Given the description of an element on the screen output the (x, y) to click on. 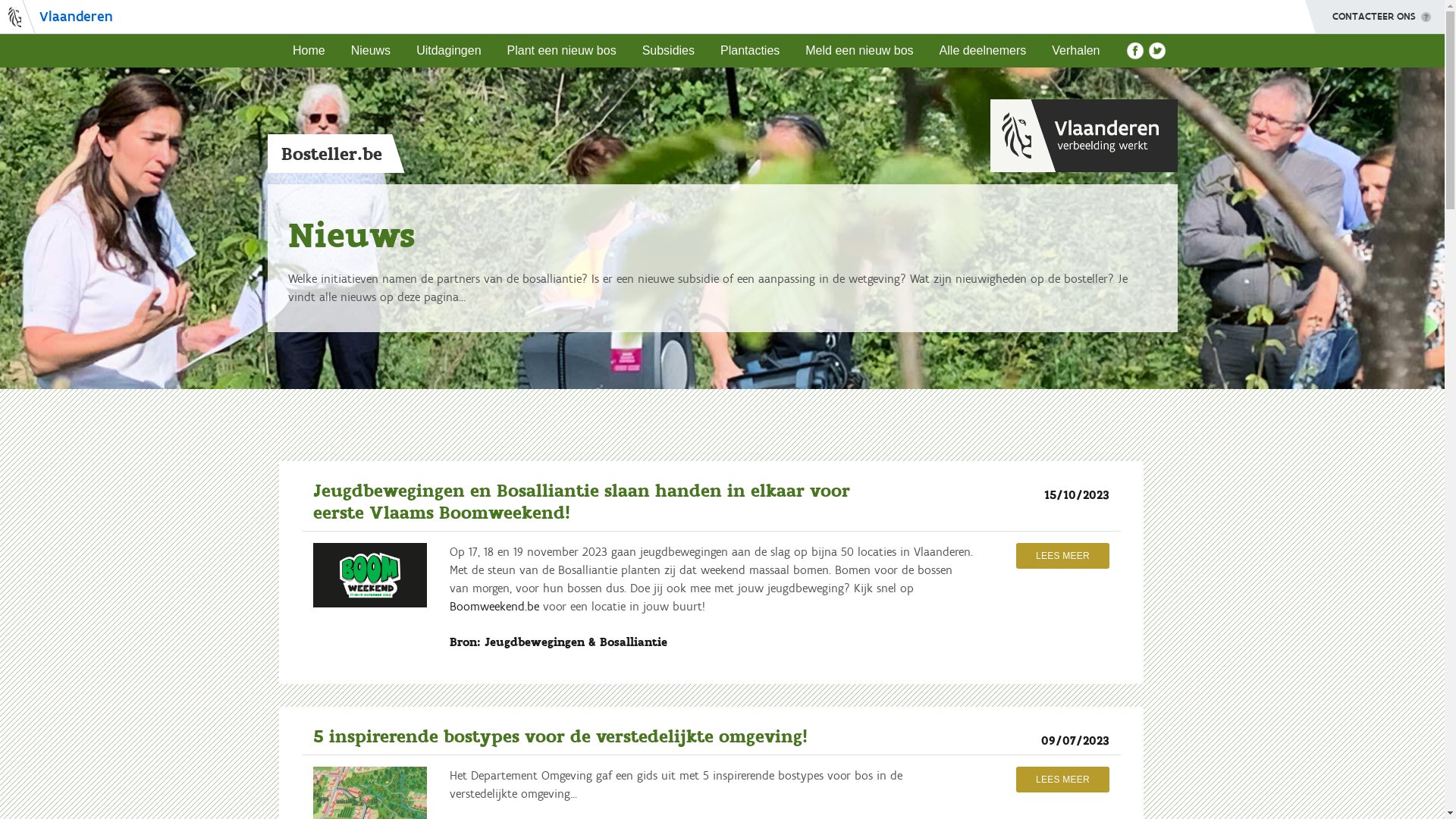
Alle deelnemers Element type: text (982, 50)
Home Element type: text (308, 50)
Subsidies Element type: text (668, 50)
Nieuws Element type: text (370, 50)
Meld een nieuw bos Element type: text (859, 50)
TOON MENU
CONTACTEER ONS Element type: text (1374, 16)
Uitdagingen Element type: text (448, 50)
Plant een nieuw bos Element type: text (561, 50)
LEES MEER Element type: text (1062, 779)
Boomweekend.be Element type: text (493, 606)
Plantacties Element type: text (749, 50)
Vlaanderen Element type: text (56, 16)
Verhalen Element type: text (1075, 50)
LEES MEER Element type: text (1062, 555)
